Given the description of an element on the screen output the (x, y) to click on. 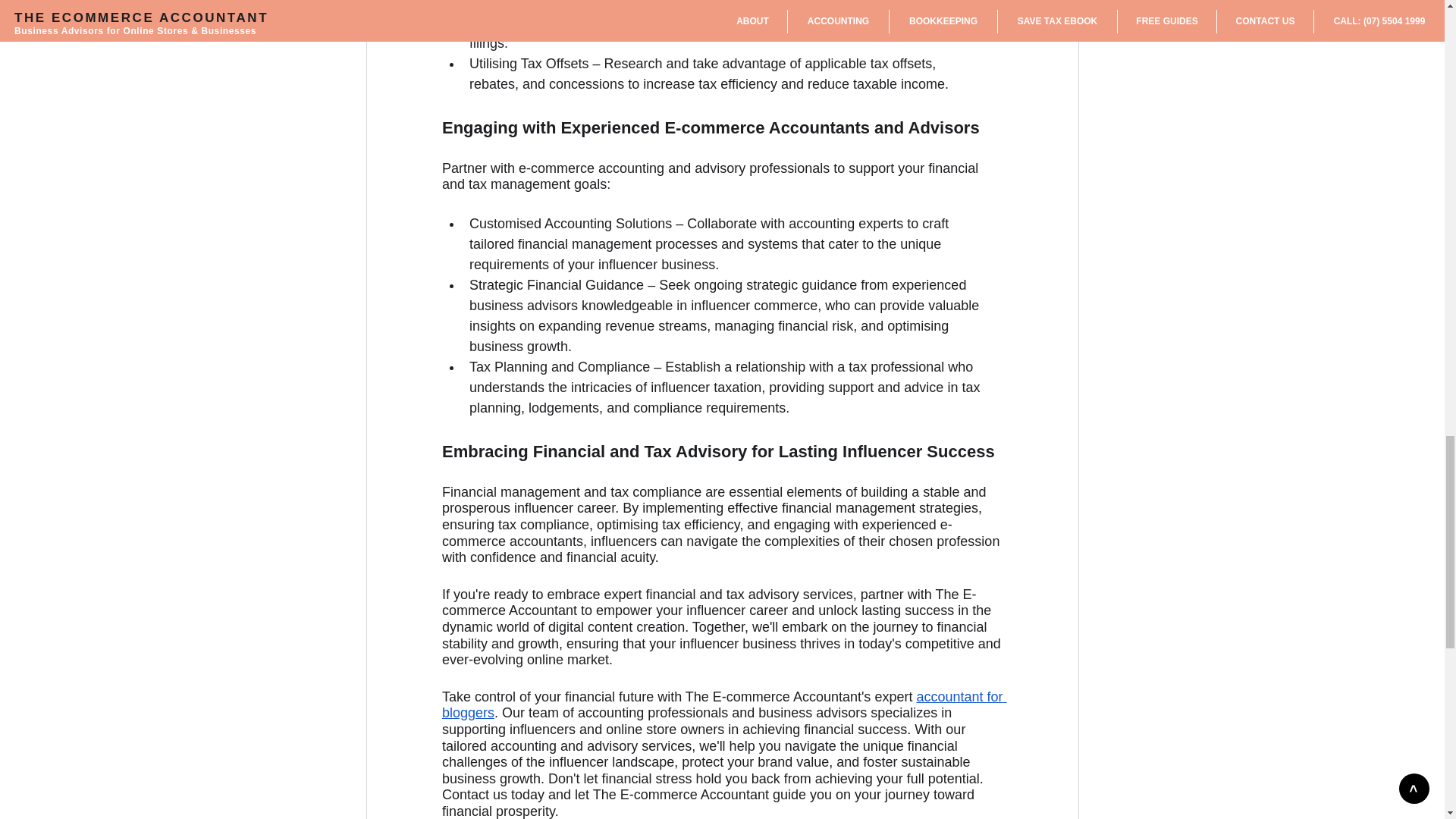
accountant for bloggers (723, 705)
